Given the description of an element on the screen output the (x, y) to click on. 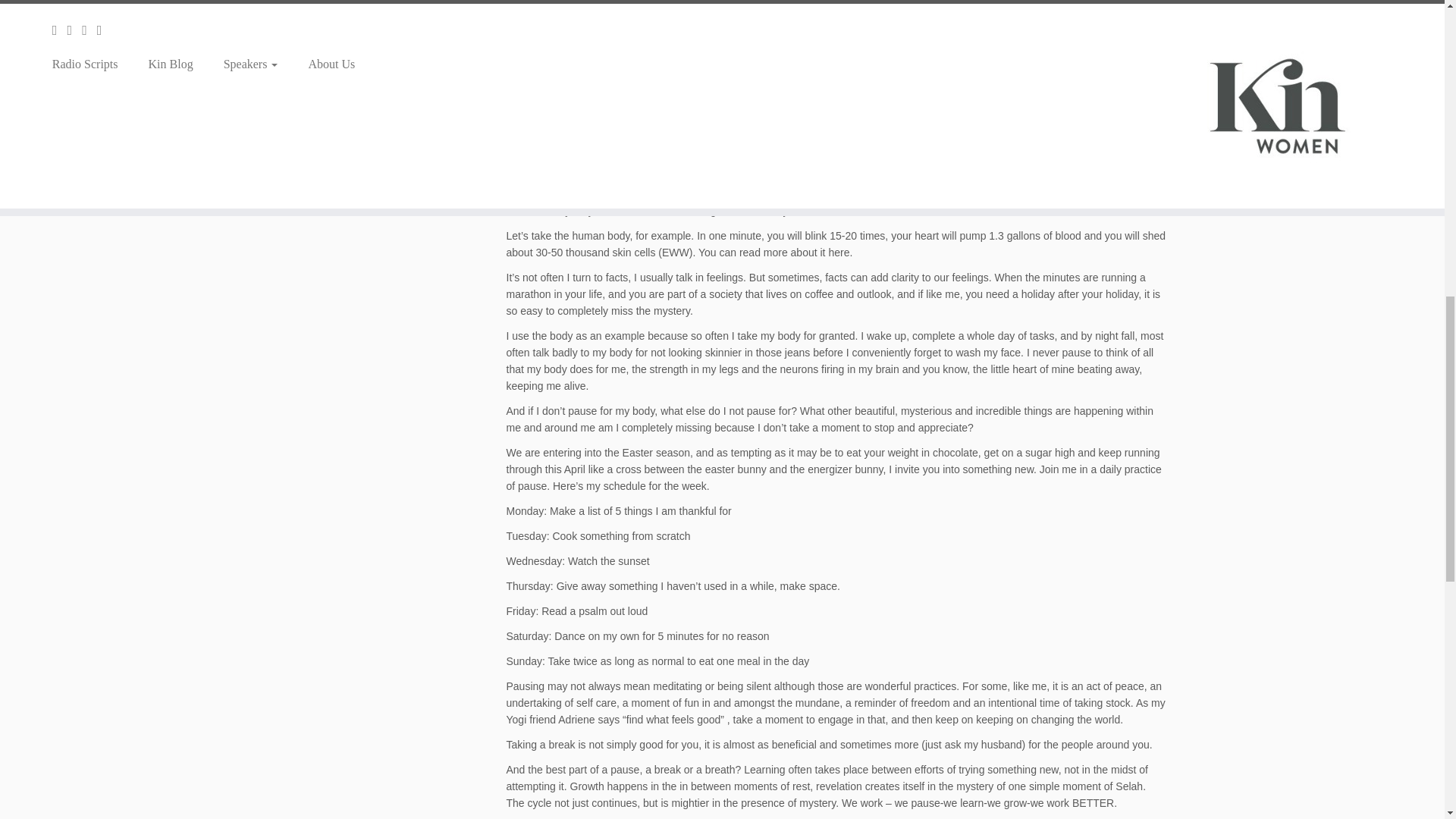
here (838, 252)
Adriene (575, 719)
kris-guico-17503 (836, 12)
